Given the description of an element on the screen output the (x, y) to click on. 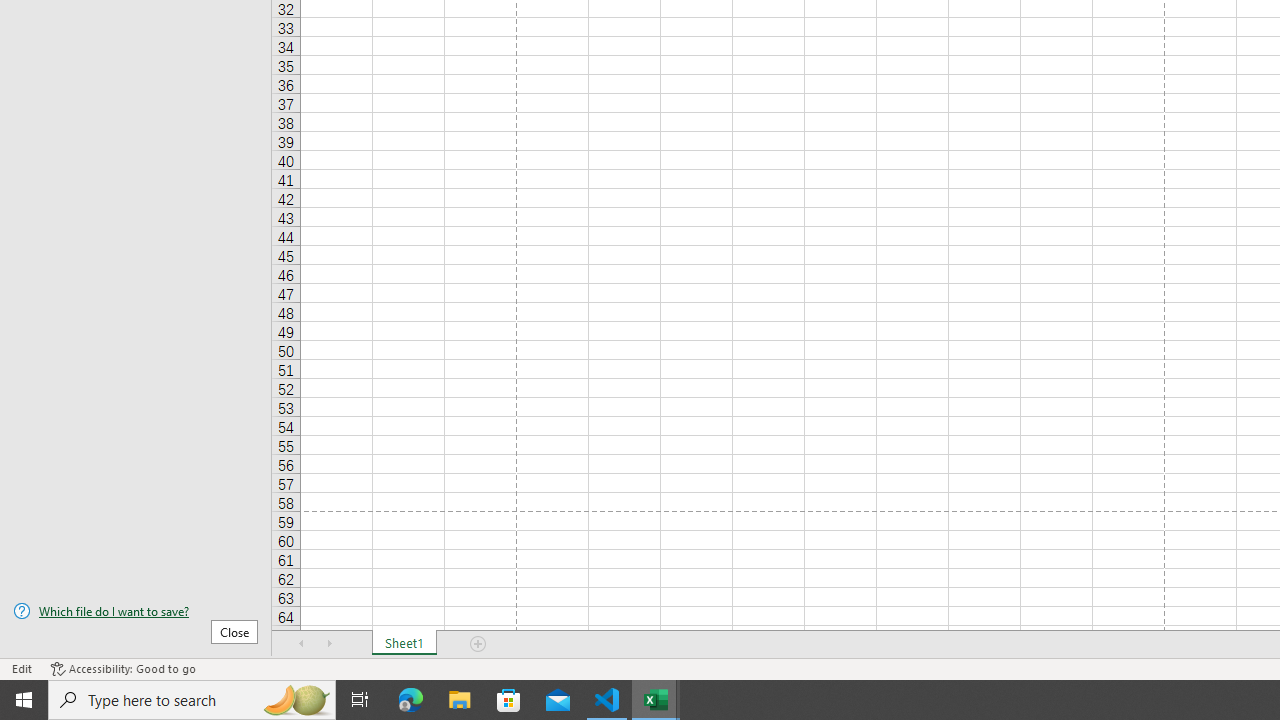
Start (24, 699)
Which file do I want to save? (136, 611)
Microsoft Edge (411, 699)
Microsoft Store (509, 699)
Visual Studio Code - 1 running window (607, 699)
Task View (359, 699)
File Explorer (460, 699)
Excel - 2 running windows (656, 699)
